Given the description of an element on the screen output the (x, y) to click on. 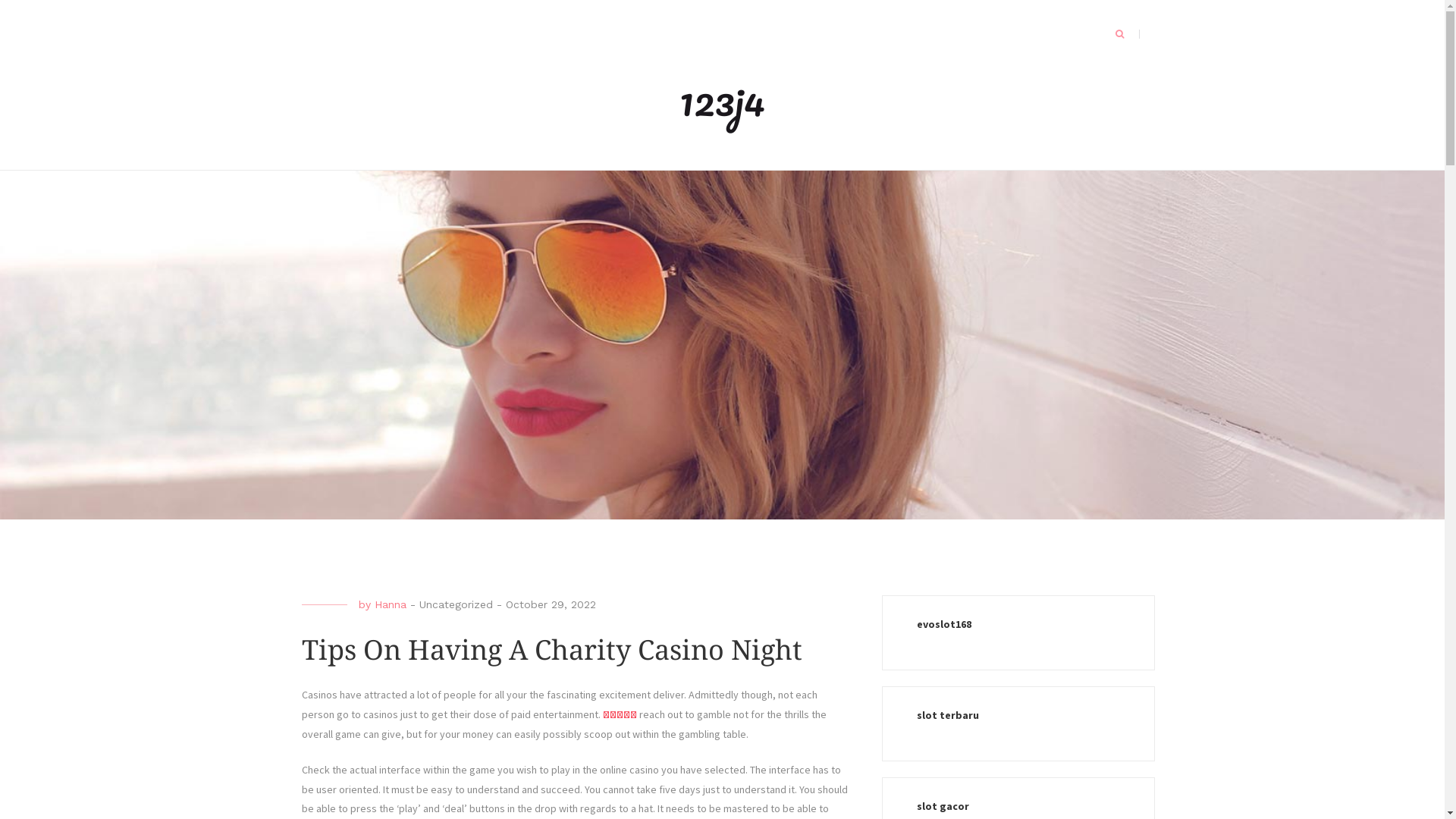
Hanna Element type: text (390, 604)
123j4 Element type: text (722, 99)
evoslot168 Element type: text (943, 623)
October 29, 2022 Element type: text (550, 604)
slot gacor Element type: text (942, 805)
slot terbaru Element type: text (947, 714)
Uncategorized Element type: text (455, 604)
